Given the description of an element on the screen output the (x, y) to click on. 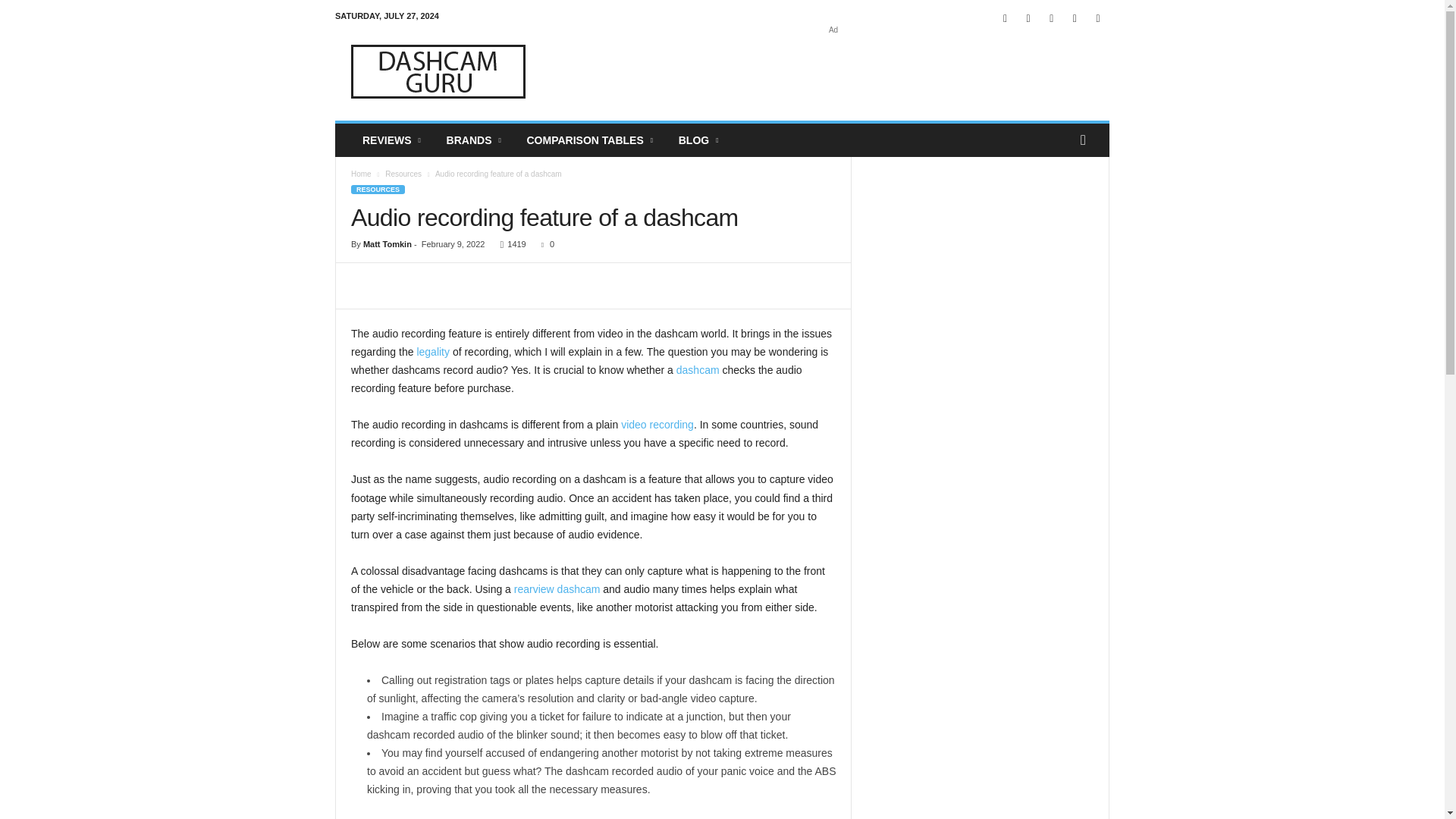
Instagram (1027, 18)
Twitter (1074, 18)
Pinterest (1051, 18)
BRANDS (475, 140)
REVIEWS (392, 140)
COMPARISON TABLES (590, 140)
Facebook (1004, 18)
Dashcam Guru (437, 70)
Youtube (1097, 18)
